Given the description of an element on the screen output the (x, y) to click on. 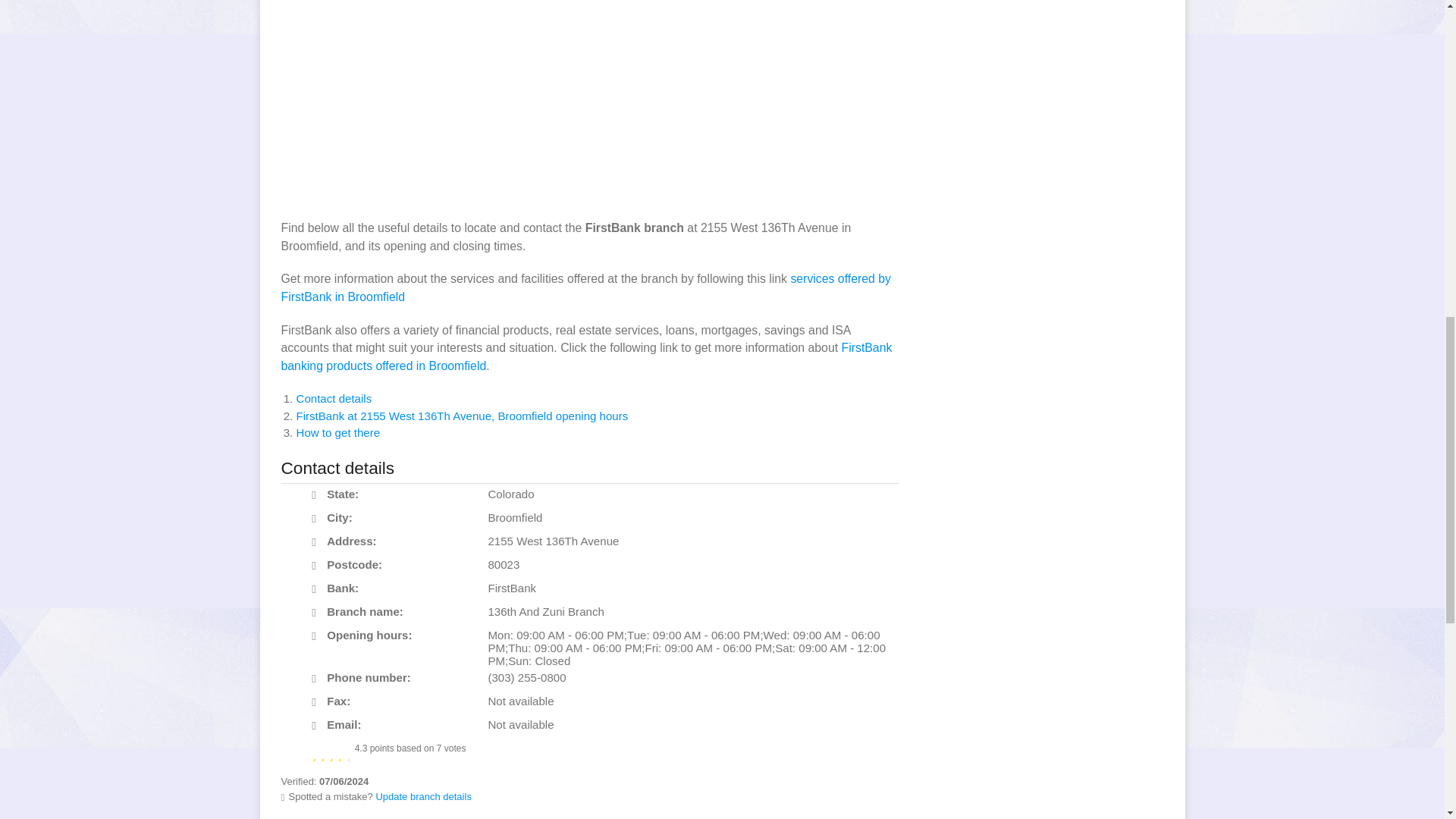
State (318, 495)
City (318, 519)
Contact details (333, 398)
How to get there (337, 431)
services offered by FirstBank in Broomfield (585, 287)
Address (318, 542)
Bank (318, 589)
Opening hours (318, 636)
FirstBank banking products offered in Broomfield (586, 356)
Phone number (318, 678)
Fax (318, 702)
Update branch details (422, 796)
Postcode (318, 565)
Branch name (318, 612)
